Given the description of an element on the screen output the (x, y) to click on. 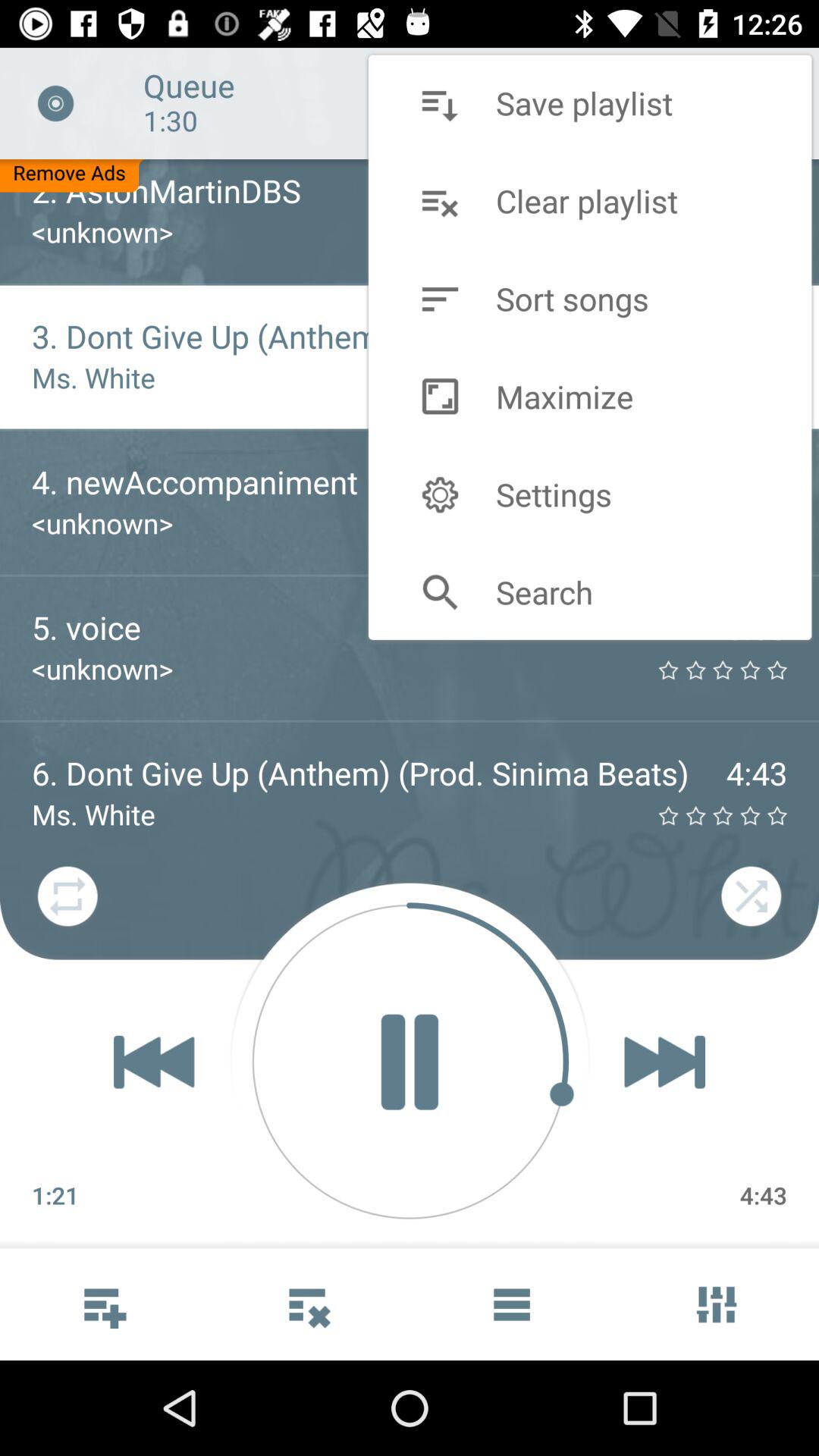
click on the search icon (440, 591)
